Given the description of an element on the screen output the (x, y) to click on. 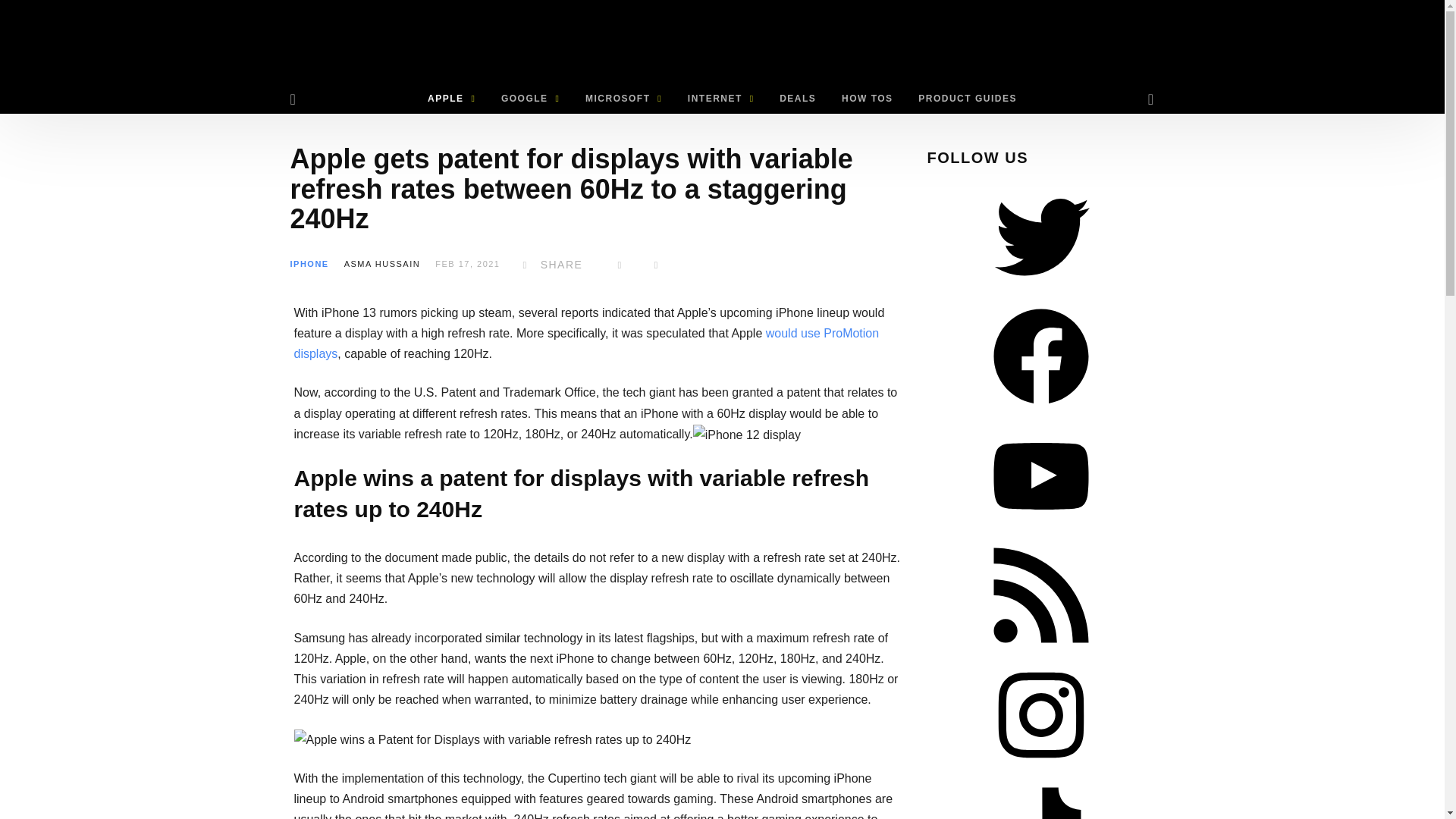
DEALS (797, 98)
View all posts in iPhone (309, 263)
Posts by Asma Hussain (381, 263)
GOOGLE (529, 98)
Share on Facebook (549, 264)
Share on Twitter (619, 264)
HOW TOS (866, 98)
APPLE (451, 98)
IPHONE (309, 263)
PRODUCT GUIDES (967, 98)
SHARE (549, 264)
MICROSOFT (622, 98)
INTERNET (721, 98)
ASMA HUSSAIN (381, 263)
More (656, 264)
